Given the description of an element on the screen output the (x, y) to click on. 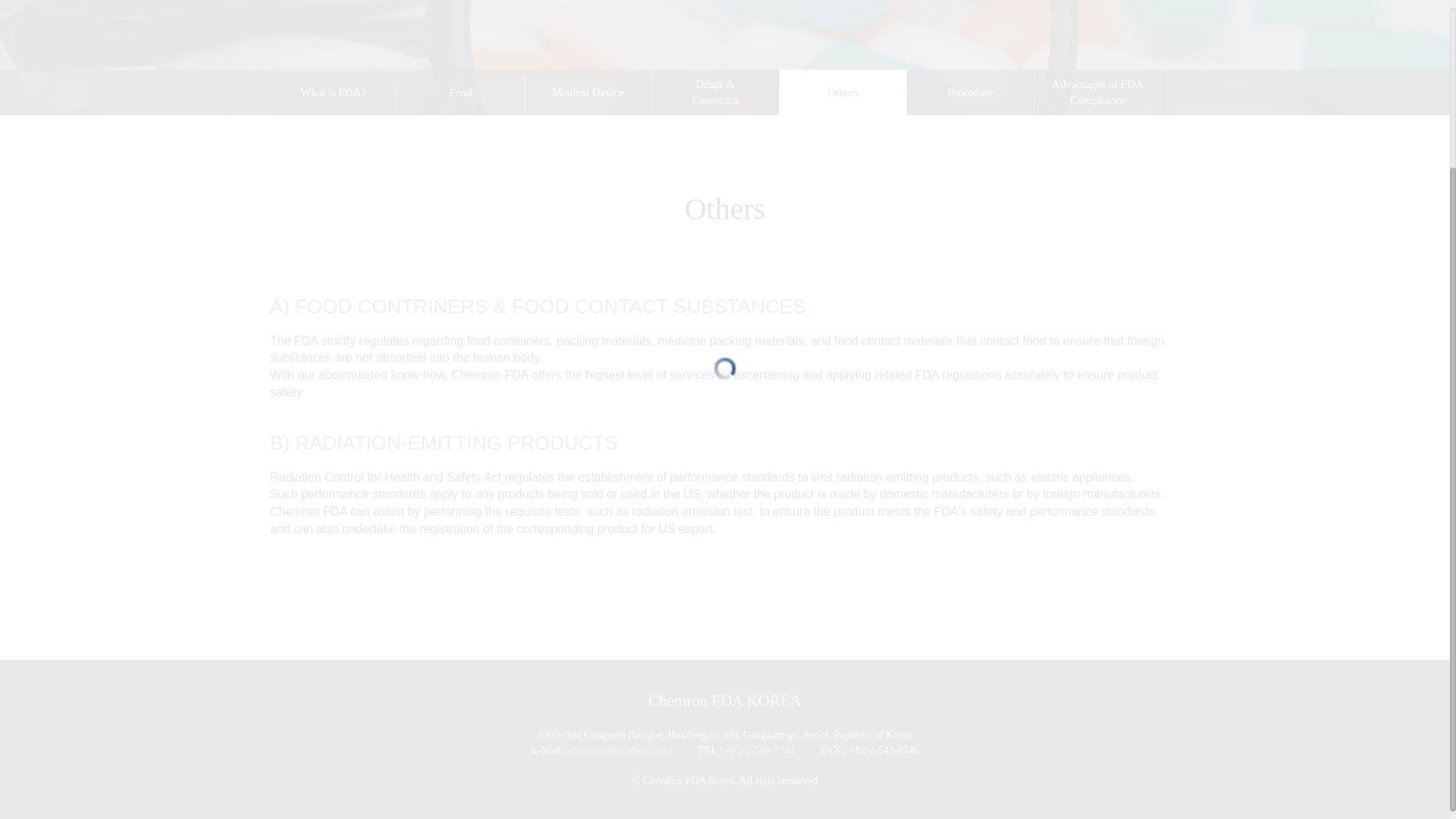
What is FDA? (332, 92)
Others (841, 92)
Medical Device (587, 92)
Procedure (970, 92)
Food (460, 92)
Advantages of FDA Compliance (1096, 92)
